Given the description of an element on the screen output the (x, y) to click on. 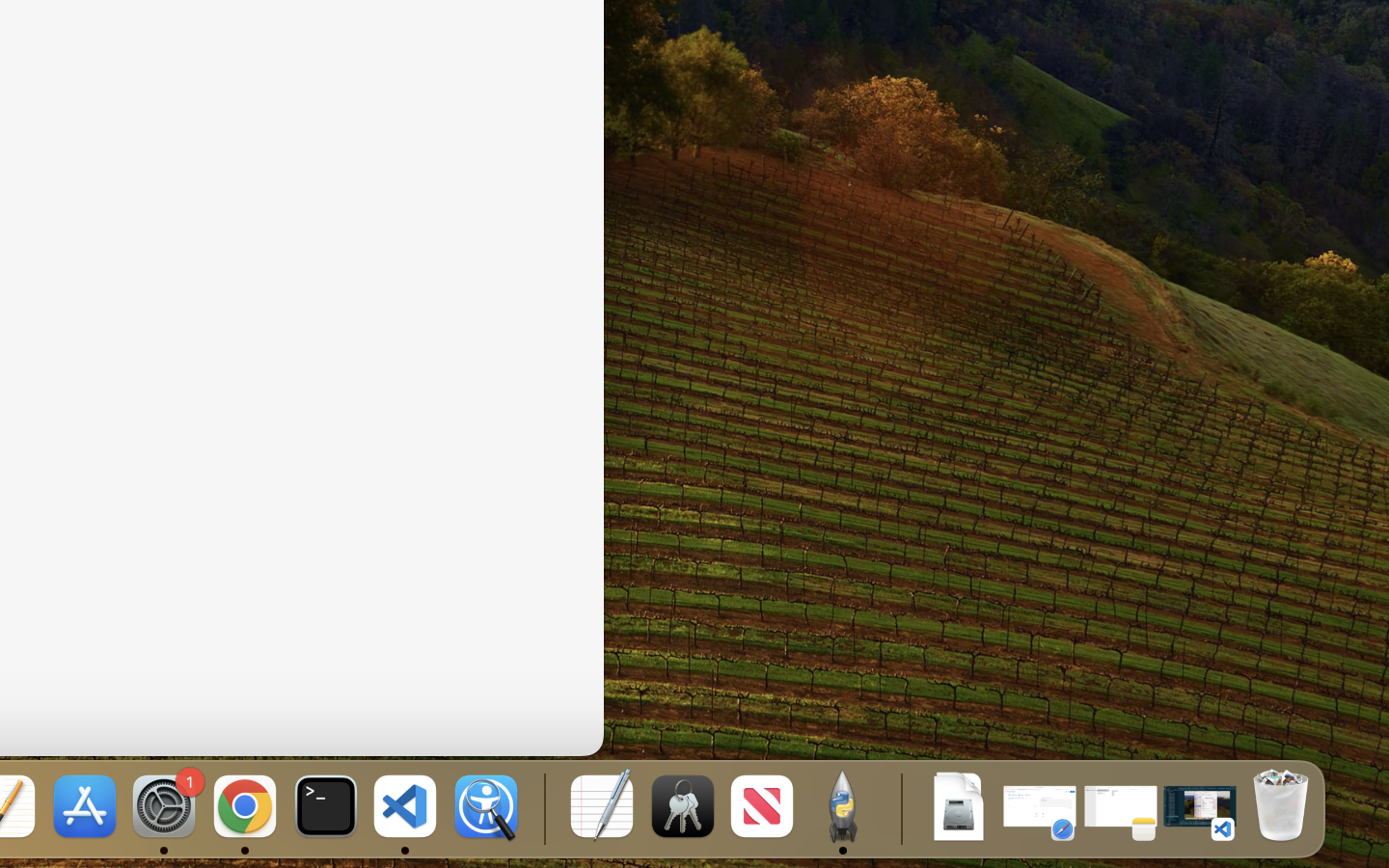
0.4285714328289032 Element type: AXDockItem (541, 807)
